Given the description of an element on the screen output the (x, y) to click on. 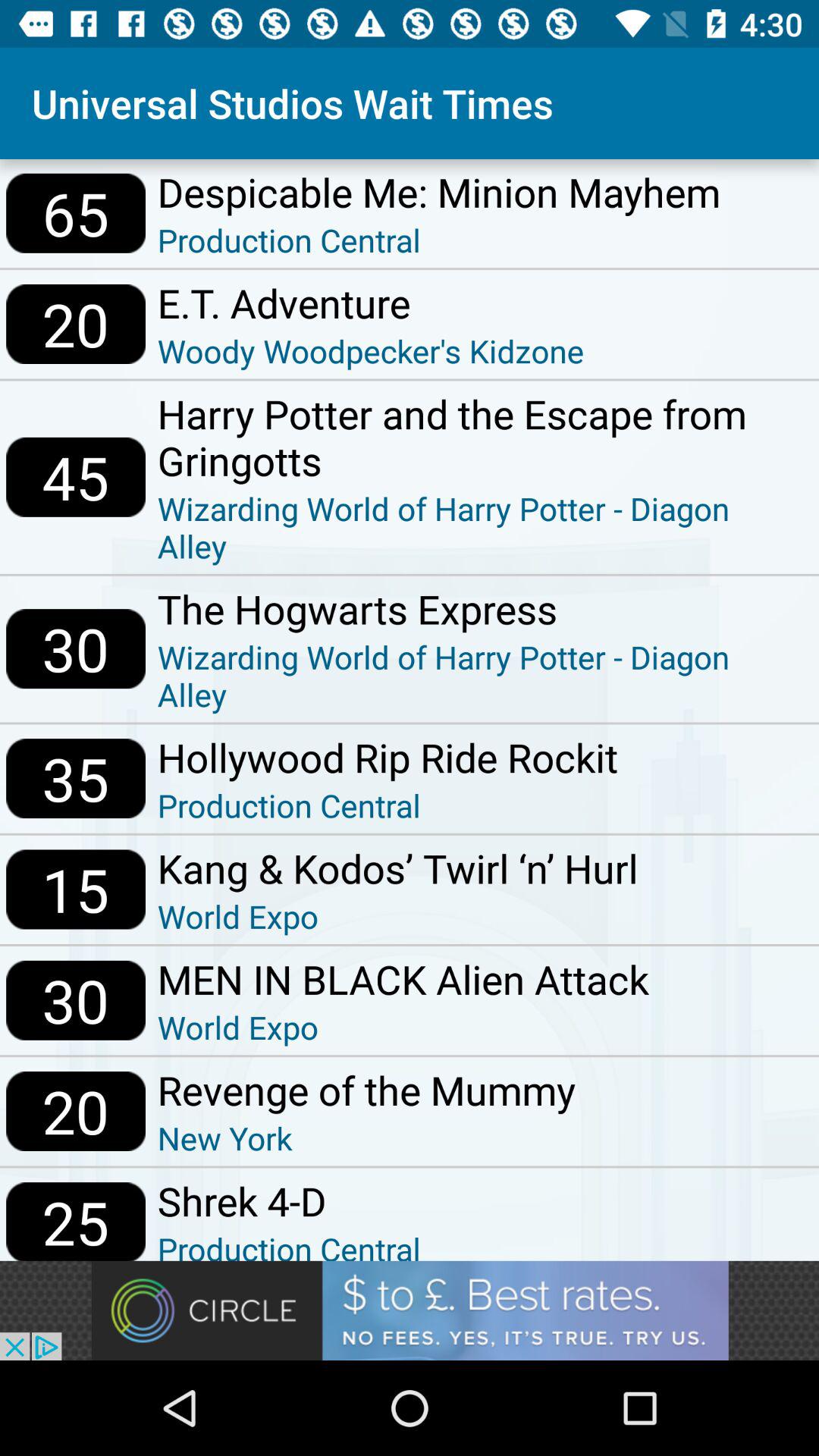
launch icon below e.t. adventure (370, 350)
